Given the description of an element on the screen output the (x, y) to click on. 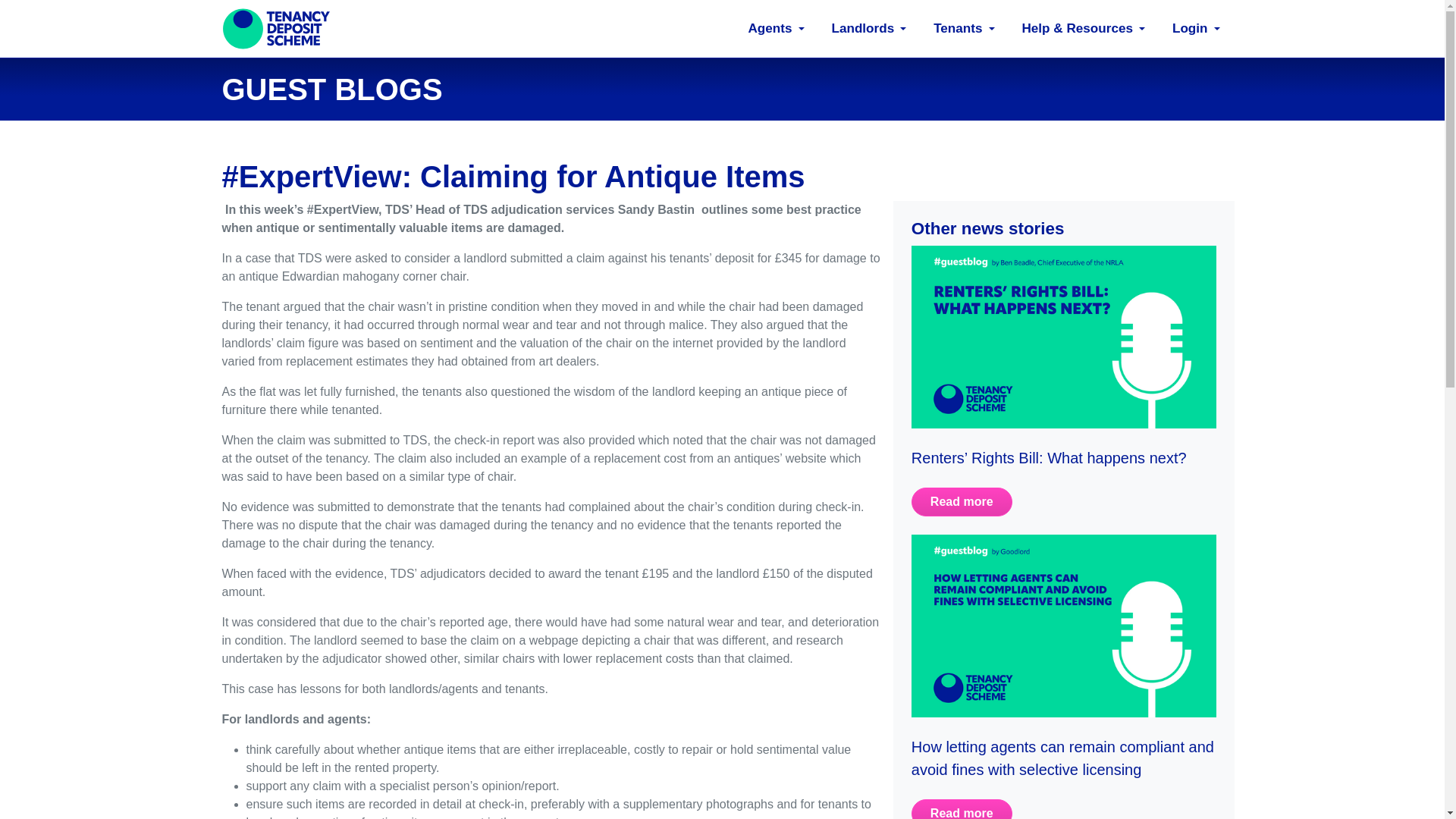
Tenants (954, 29)
Landlords (859, 29)
Login (1187, 29)
Agents (766, 29)
